Given the description of an element on the screen output the (x, y) to click on. 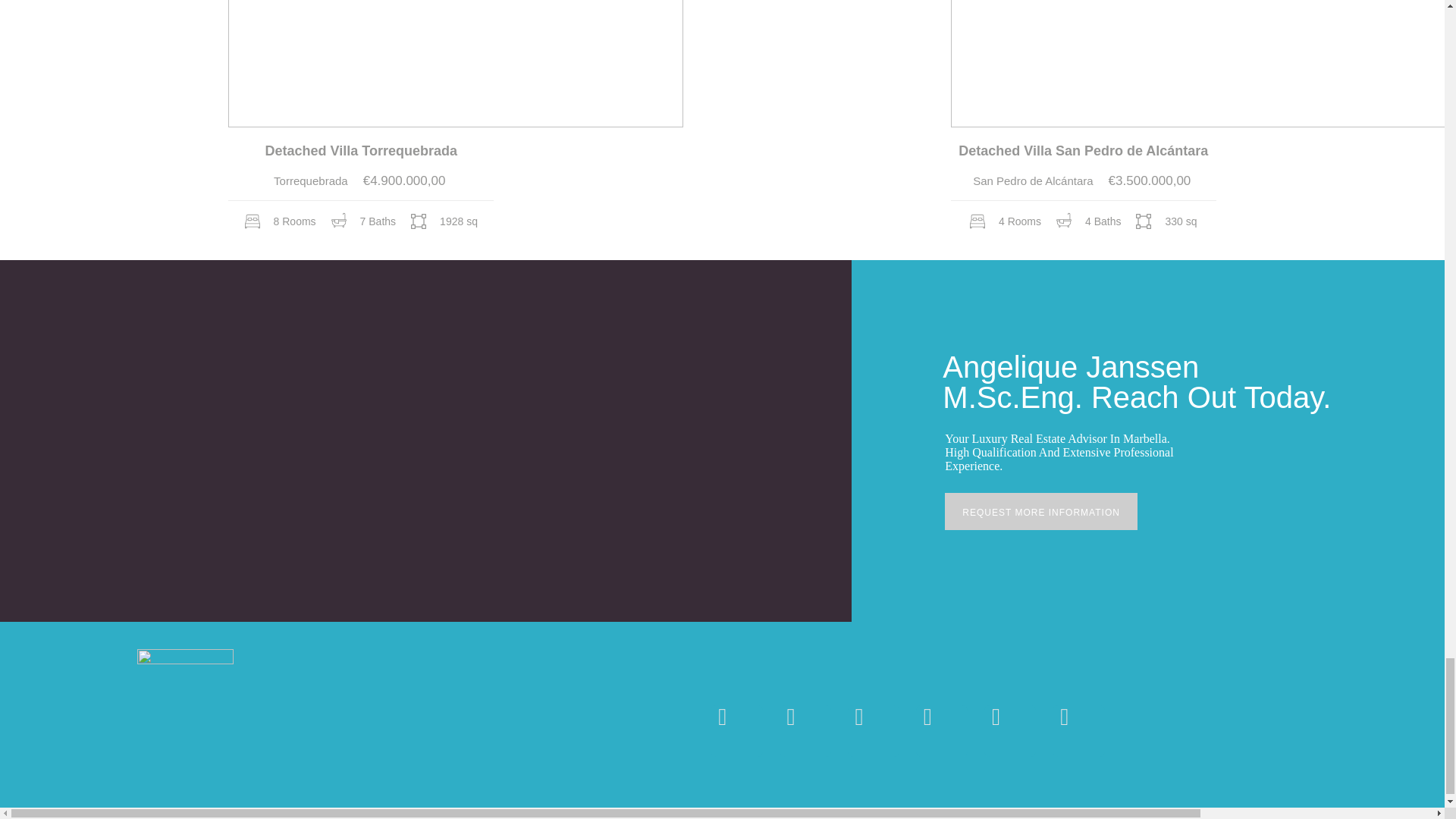
REQUEST MORE INFORMATION (1040, 511)
Detached Villa Torrequebrada (360, 150)
